Given the description of an element on the screen output the (x, y) to click on. 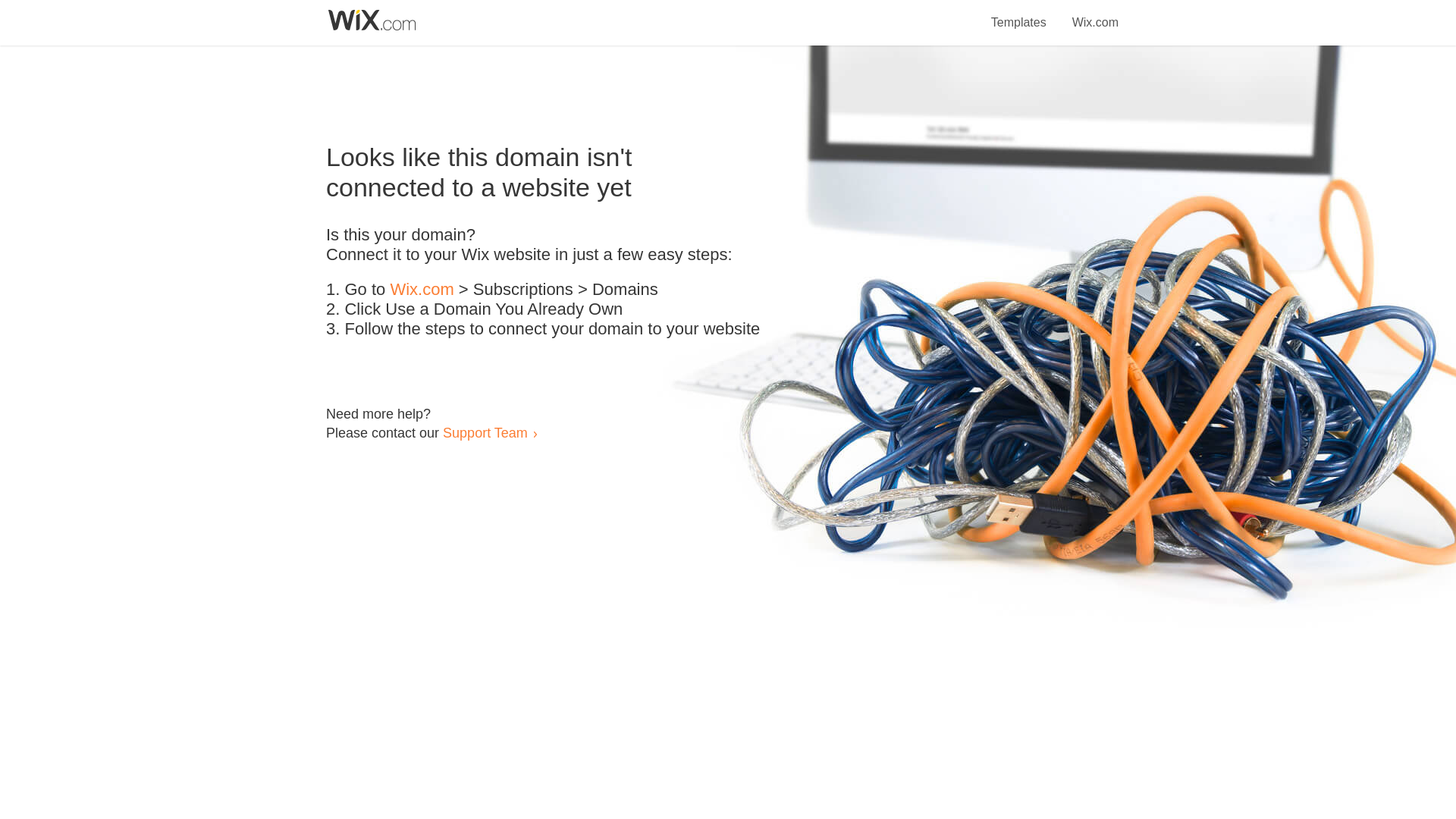
Templates (1018, 14)
Support Team (484, 432)
Wix.com (421, 289)
Wix.com (1095, 14)
